Given the description of an element on the screen output the (x, y) to click on. 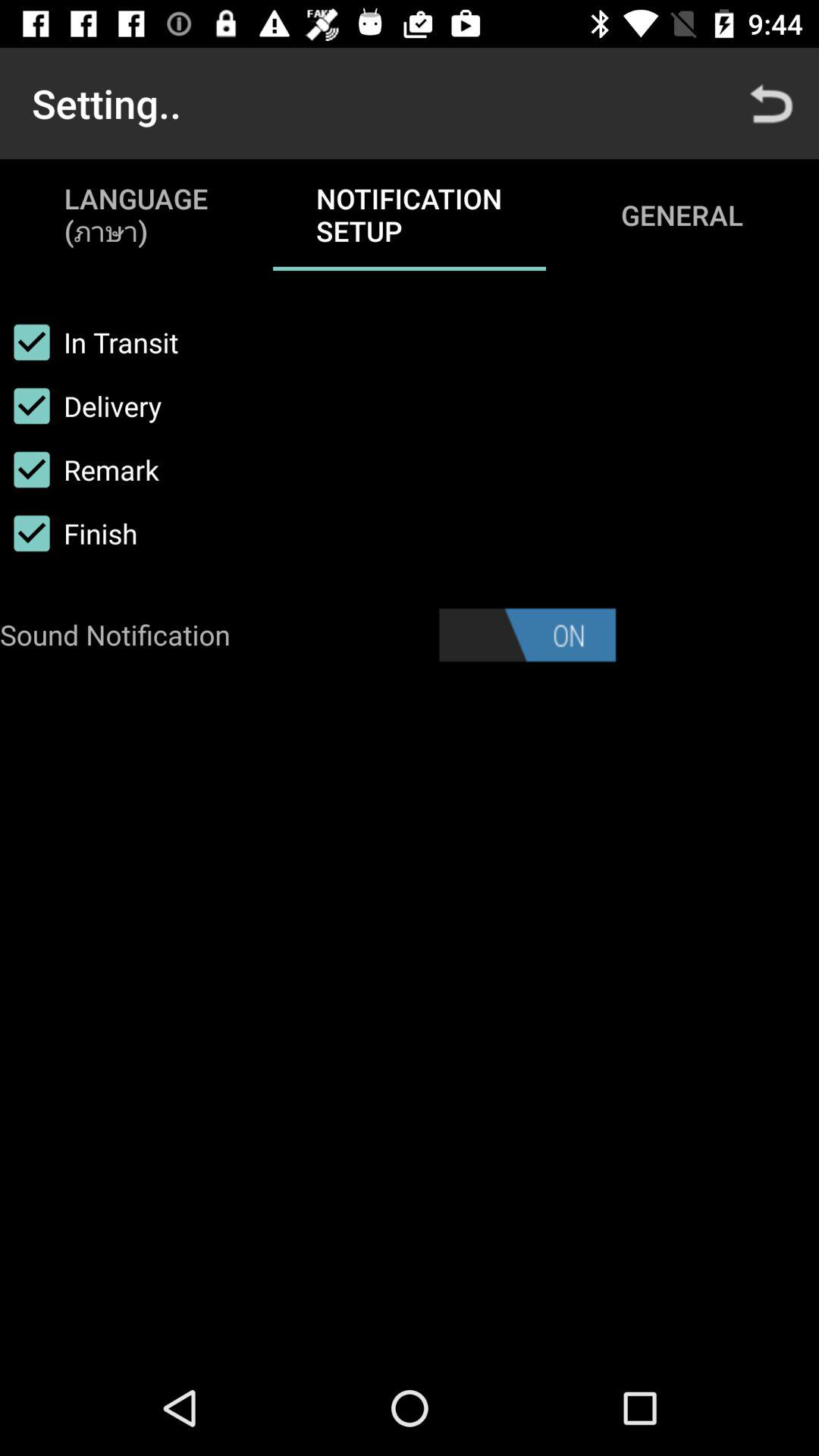
choose icon next to the sound notification icon (527, 634)
